Given the description of an element on the screen output the (x, y) to click on. 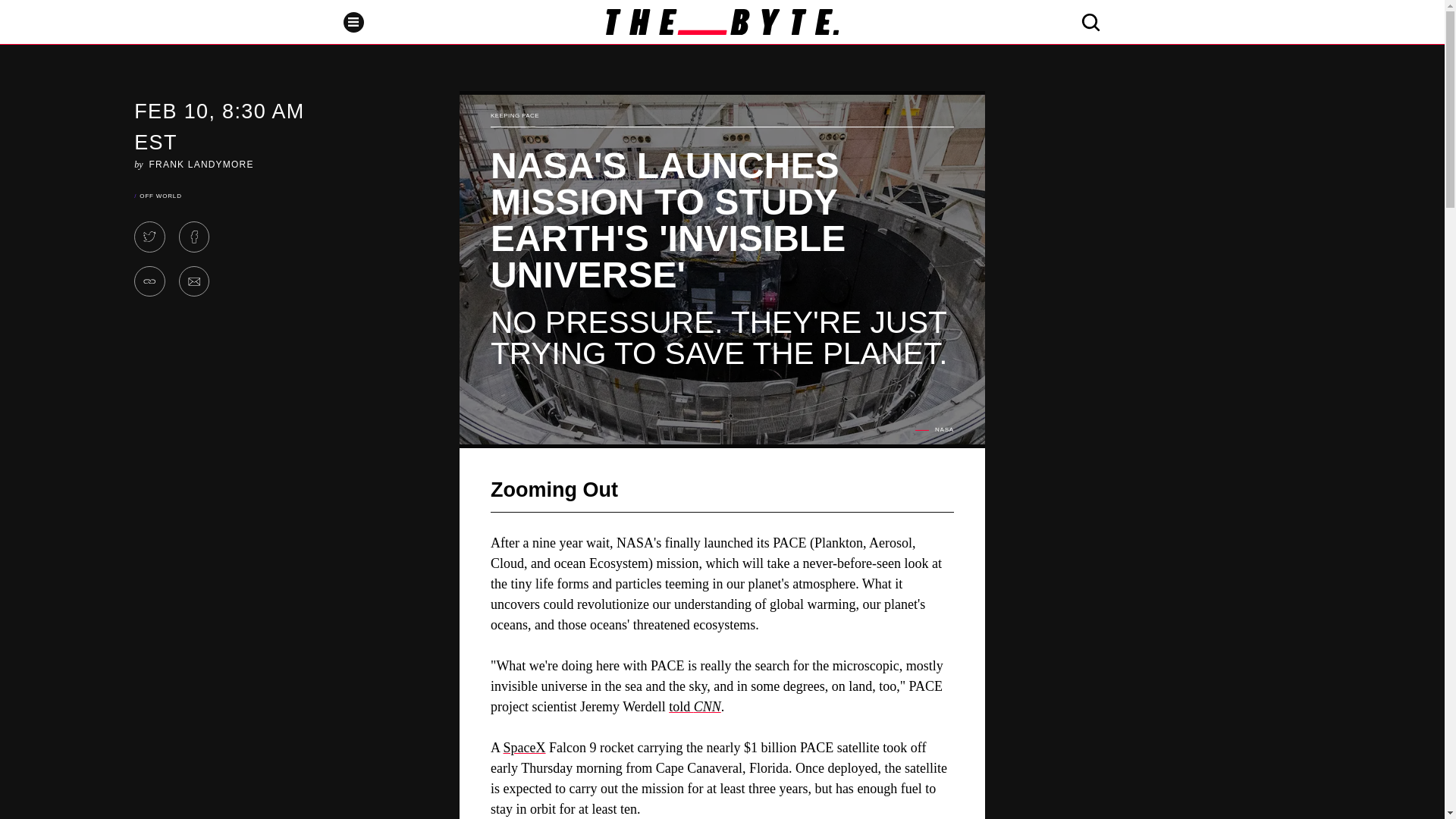
Tweet This (149, 236)
Share to Facebook (194, 236)
FRANK LANDYMORE (201, 163)
Share via Email (194, 281)
The Byte (722, 22)
Copy Link (149, 281)
SpaceX (524, 747)
OFF WORLD (159, 195)
Off World (159, 195)
